Given the description of an element on the screen output the (x, y) to click on. 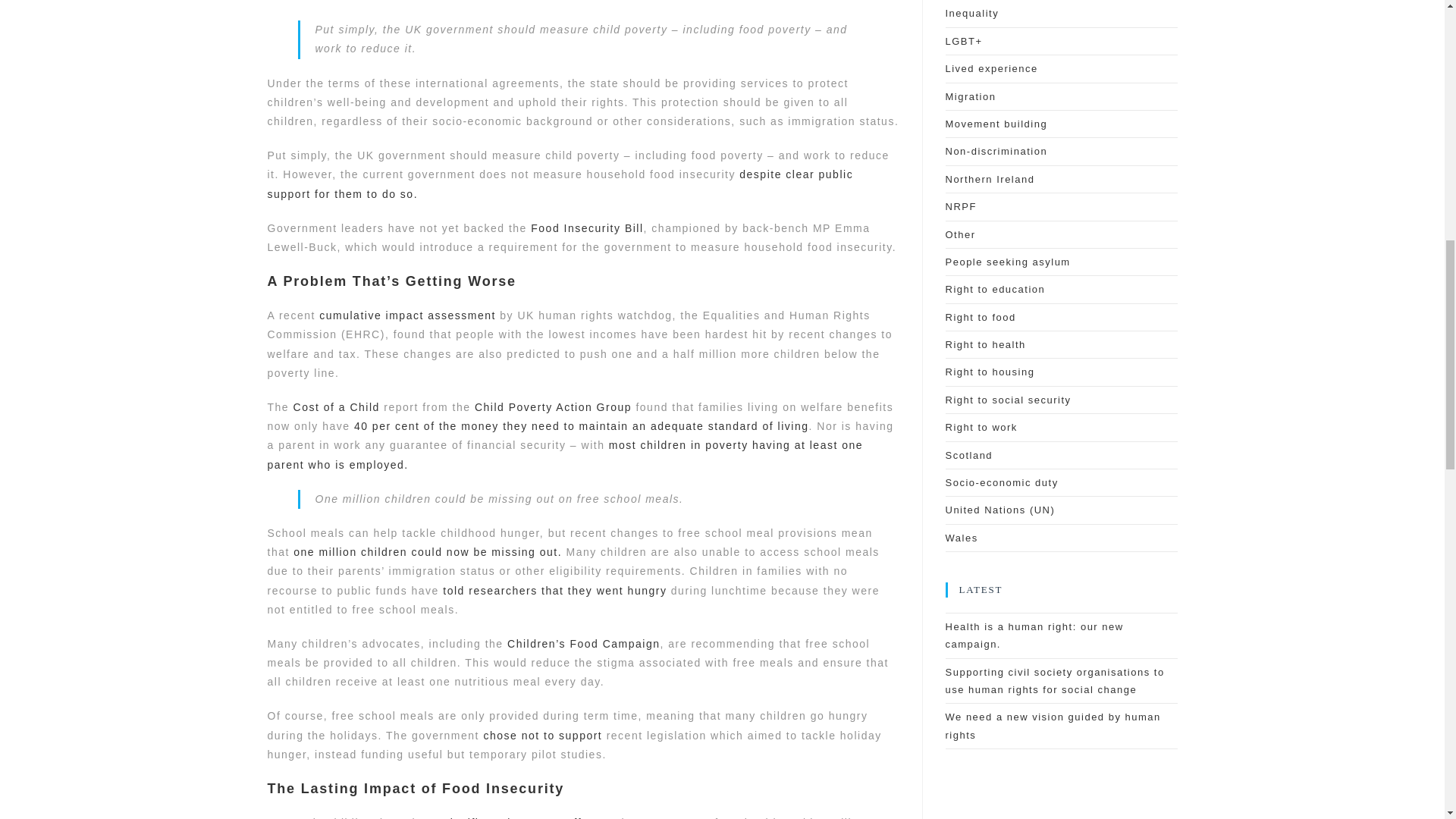
Food Insecurity Bill (587, 227)
chose not to support (542, 735)
cumulative impact assessment (407, 315)
despite clear public support for them to do so. (559, 183)
told researchers that they went hungry (554, 590)
Cost of a Child (337, 407)
one million children could now be missing out. (428, 551)
significant long-term effects (524, 817)
Child Poverty Action Group (552, 407)
